Given the description of an element on the screen output the (x, y) to click on. 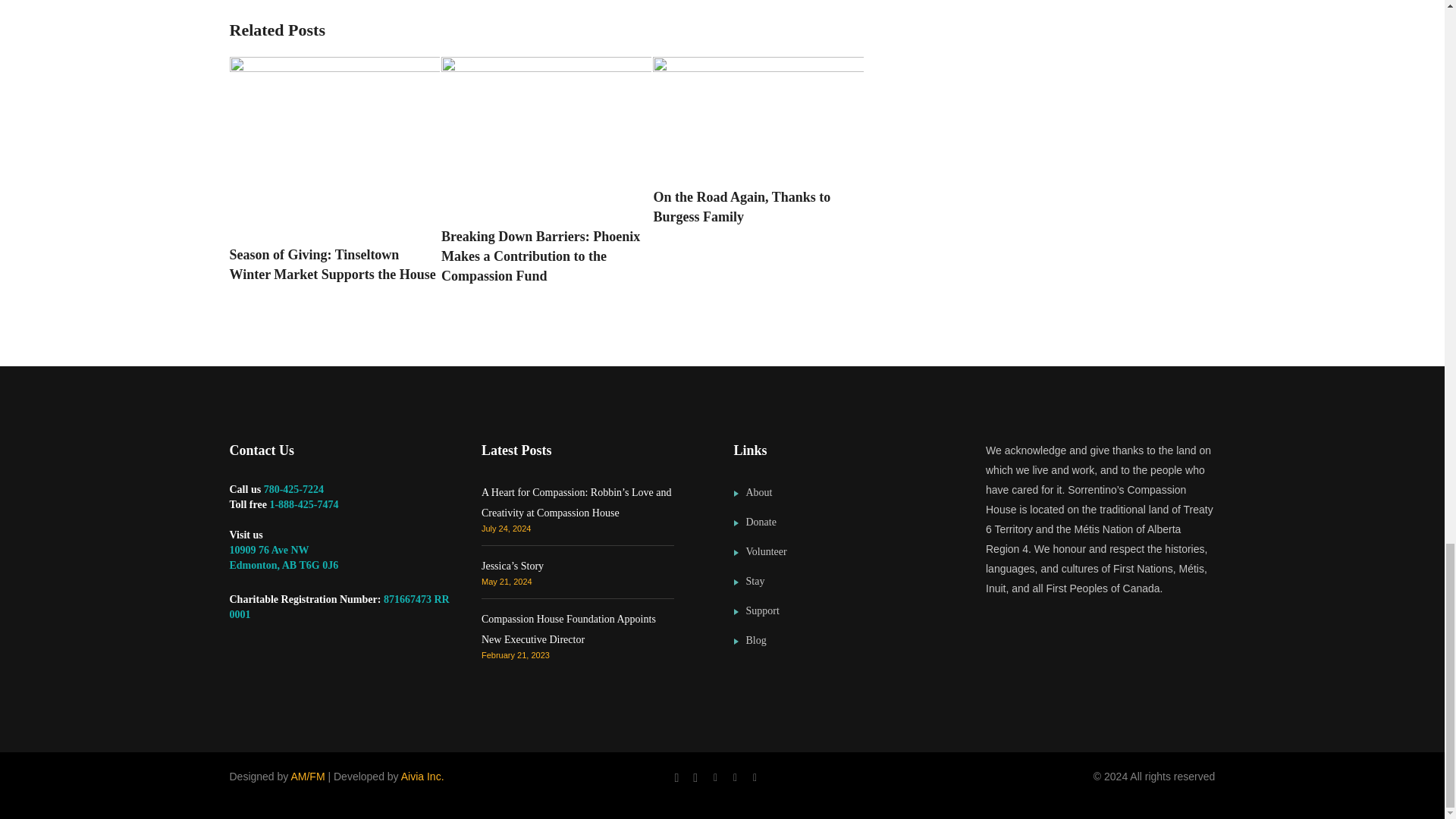
On the Road Again, Thanks to Burgess Family (757, 206)
